Given the description of an element on the screen output the (x, y) to click on. 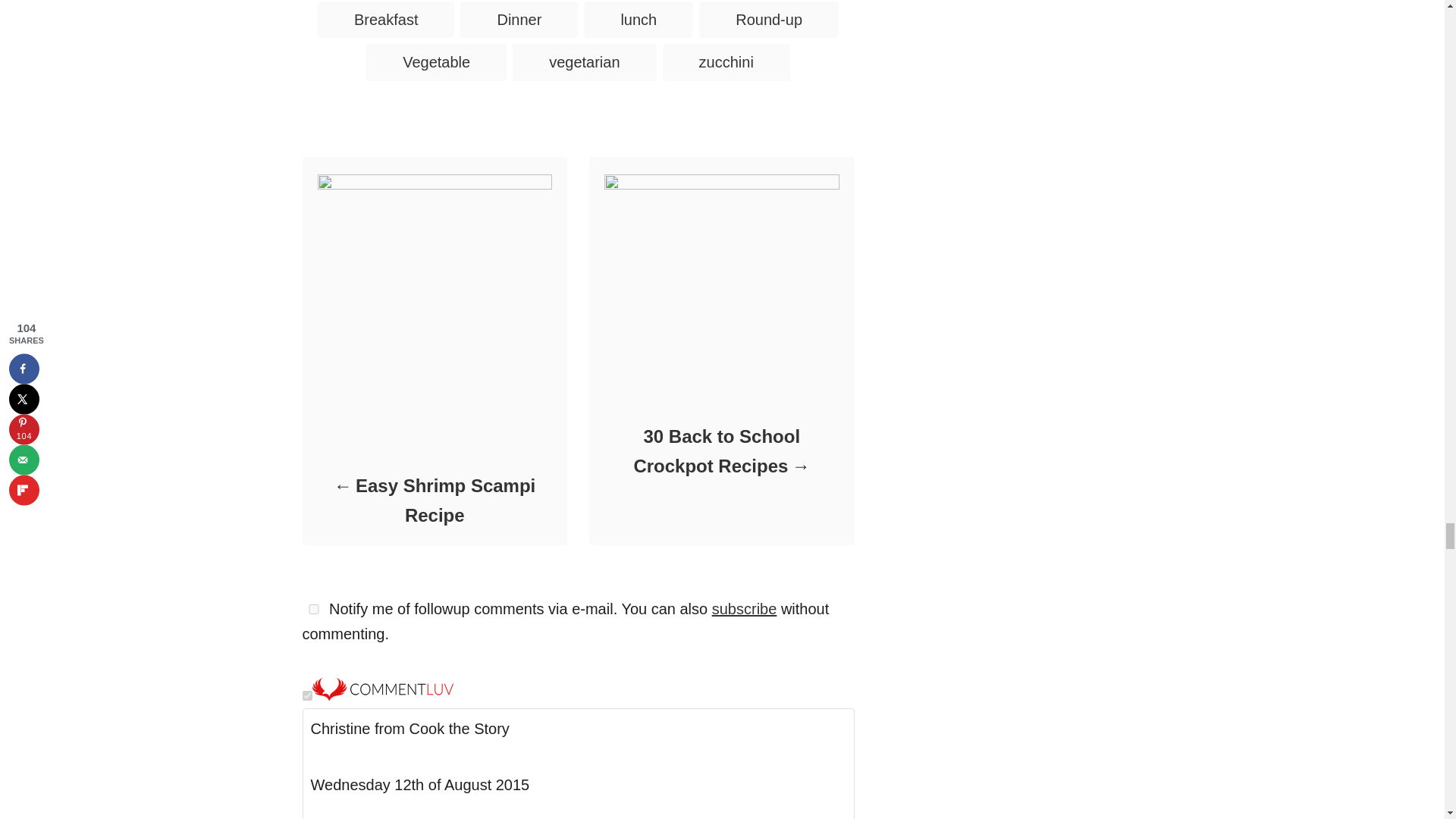
CommentLuv is enabled (382, 695)
on (306, 696)
yes (312, 609)
